Given the description of an element on the screen output the (x, y) to click on. 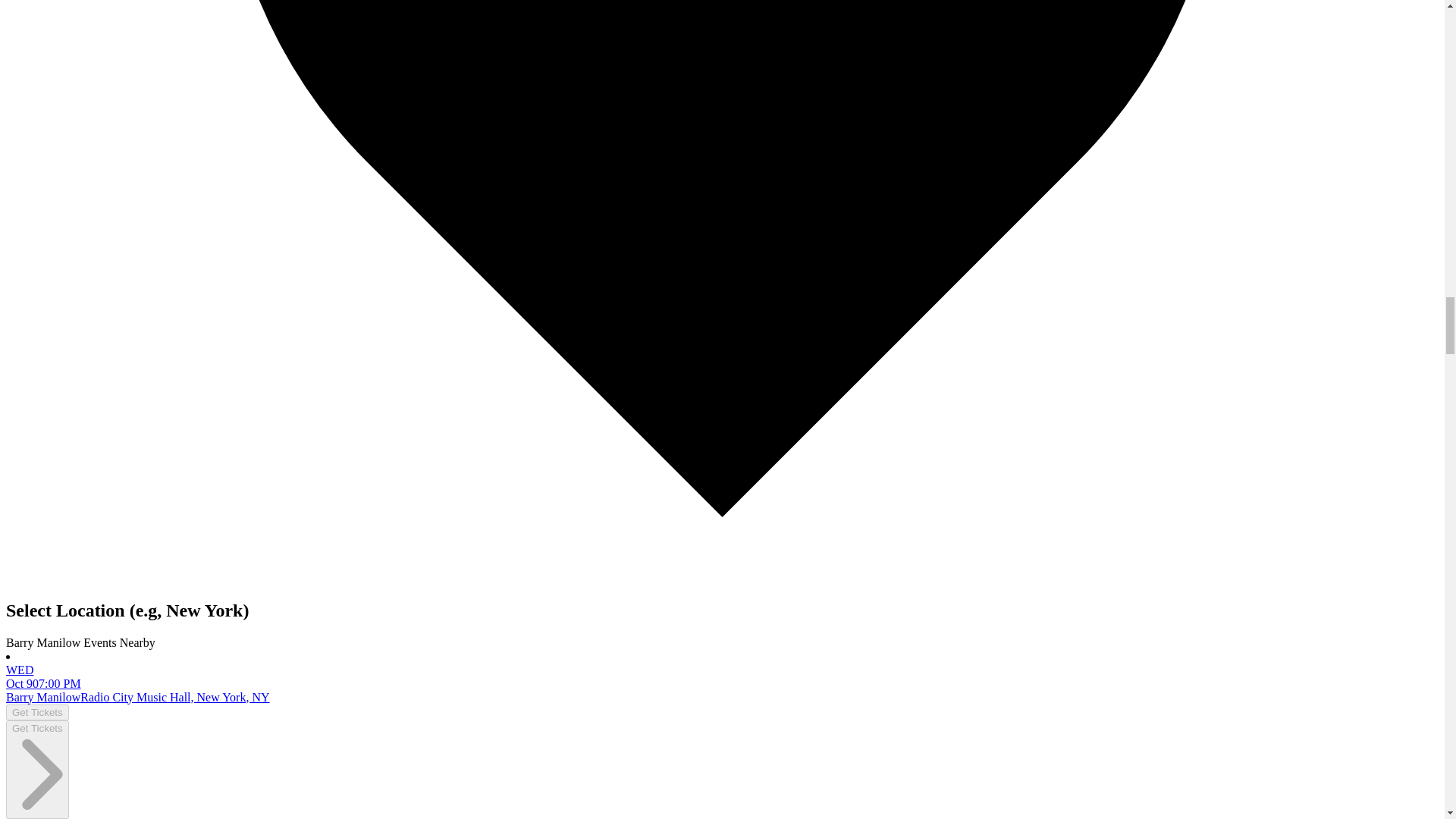
Get Tickets (36, 712)
